Given the description of an element on the screen output the (x, y) to click on. 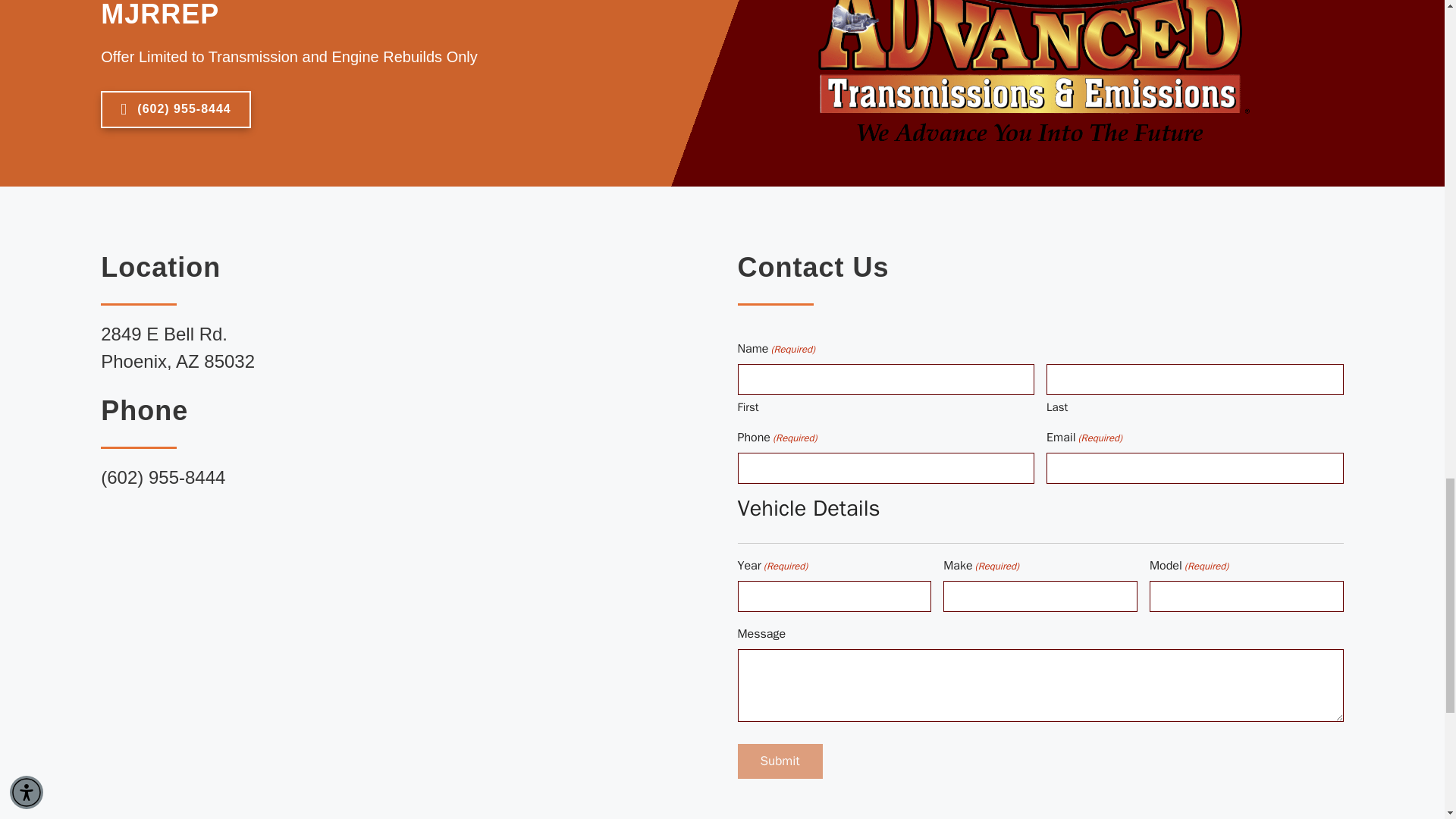
Submit (779, 760)
